Given the description of an element on the screen output the (x, y) to click on. 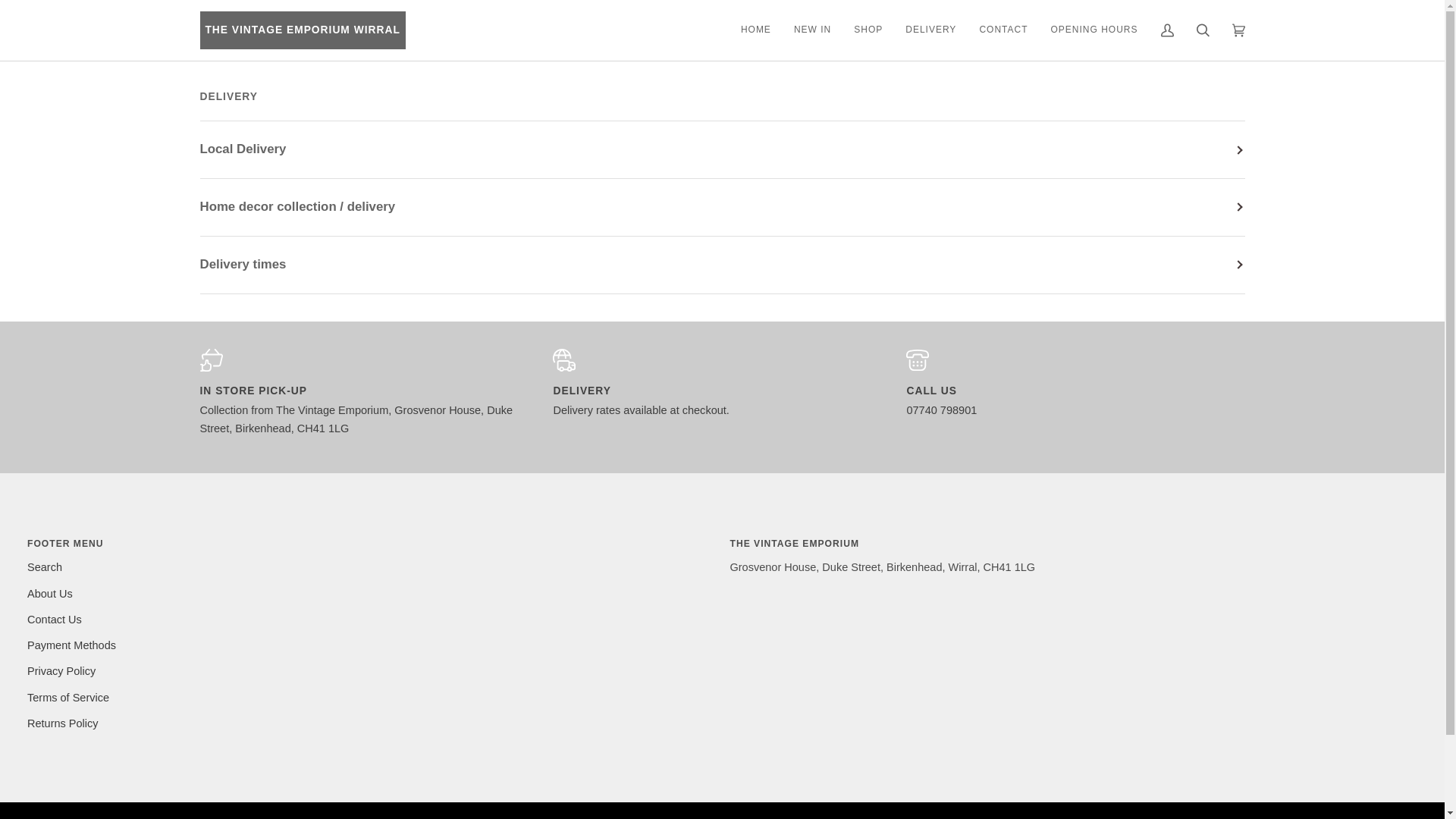
OPENING HOURS (1093, 30)
MY ACCOUNT (1167, 30)
NEW IN (813, 30)
DELIVERY (930, 30)
SEARCH (1202, 30)
HOME (756, 30)
THE VINTAGE EMPORIUM WIRRAL (303, 30)
CONTACT (1003, 30)
SHOP (868, 30)
